Given the description of an element on the screen output the (x, y) to click on. 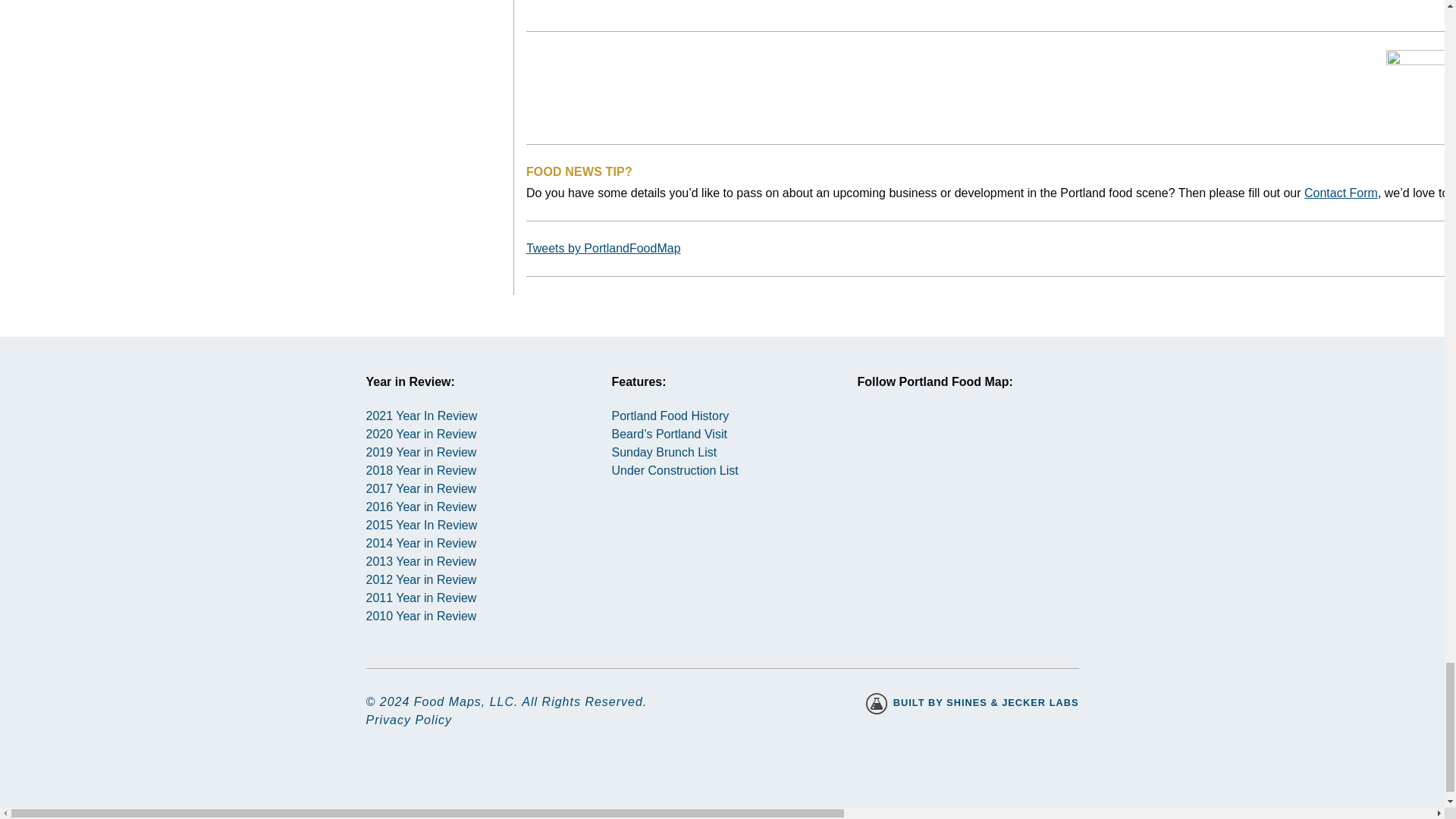
Instagram icon (882, 441)
Twitter icon (938, 441)
RSS icon (992, 441)
